Given the description of an element on the screen output the (x, y) to click on. 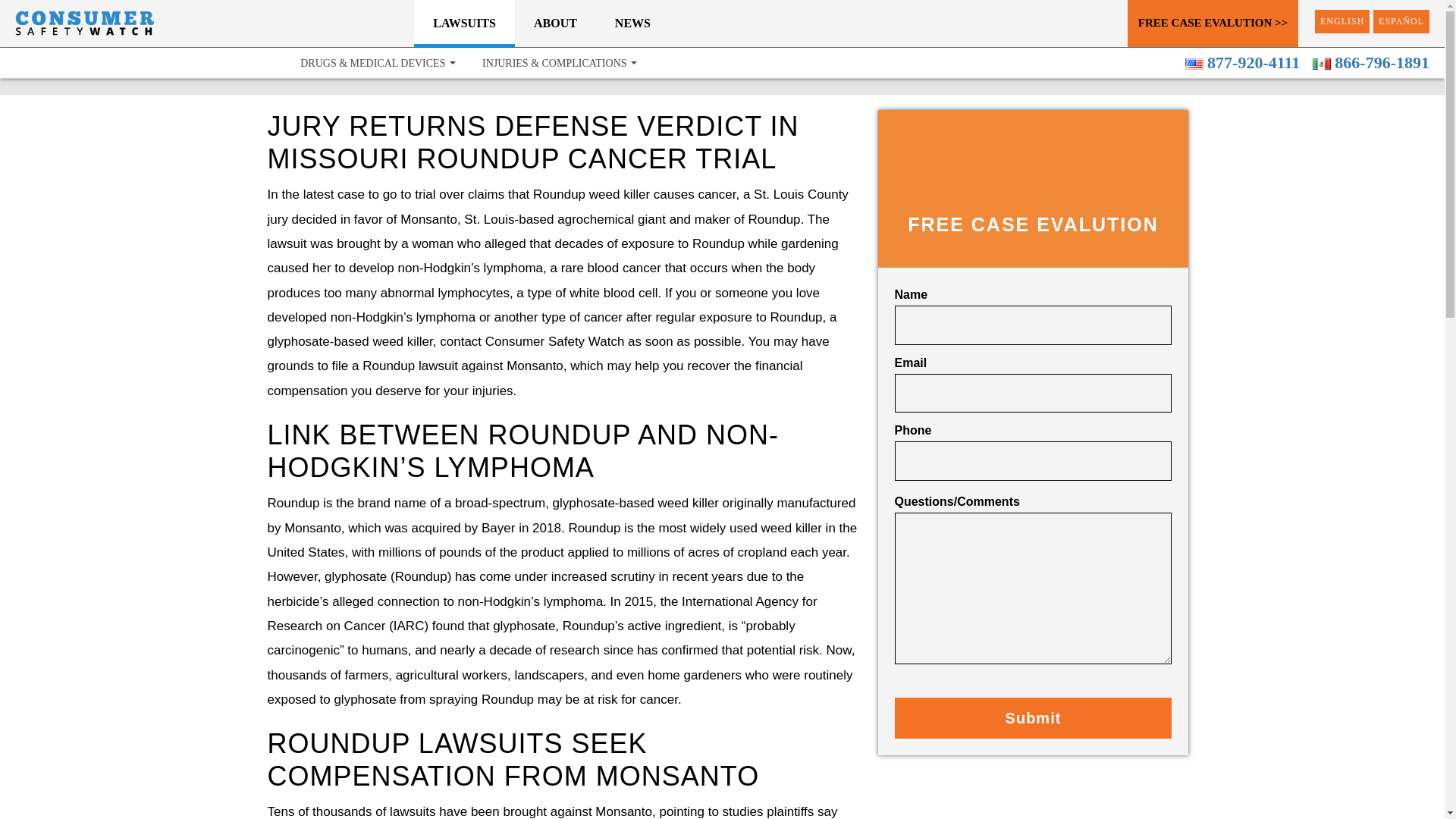
LAWSUITS (464, 22)
Lawsuits (464, 22)
Submit (1033, 717)
